Given the description of an element on the screen output the (x, y) to click on. 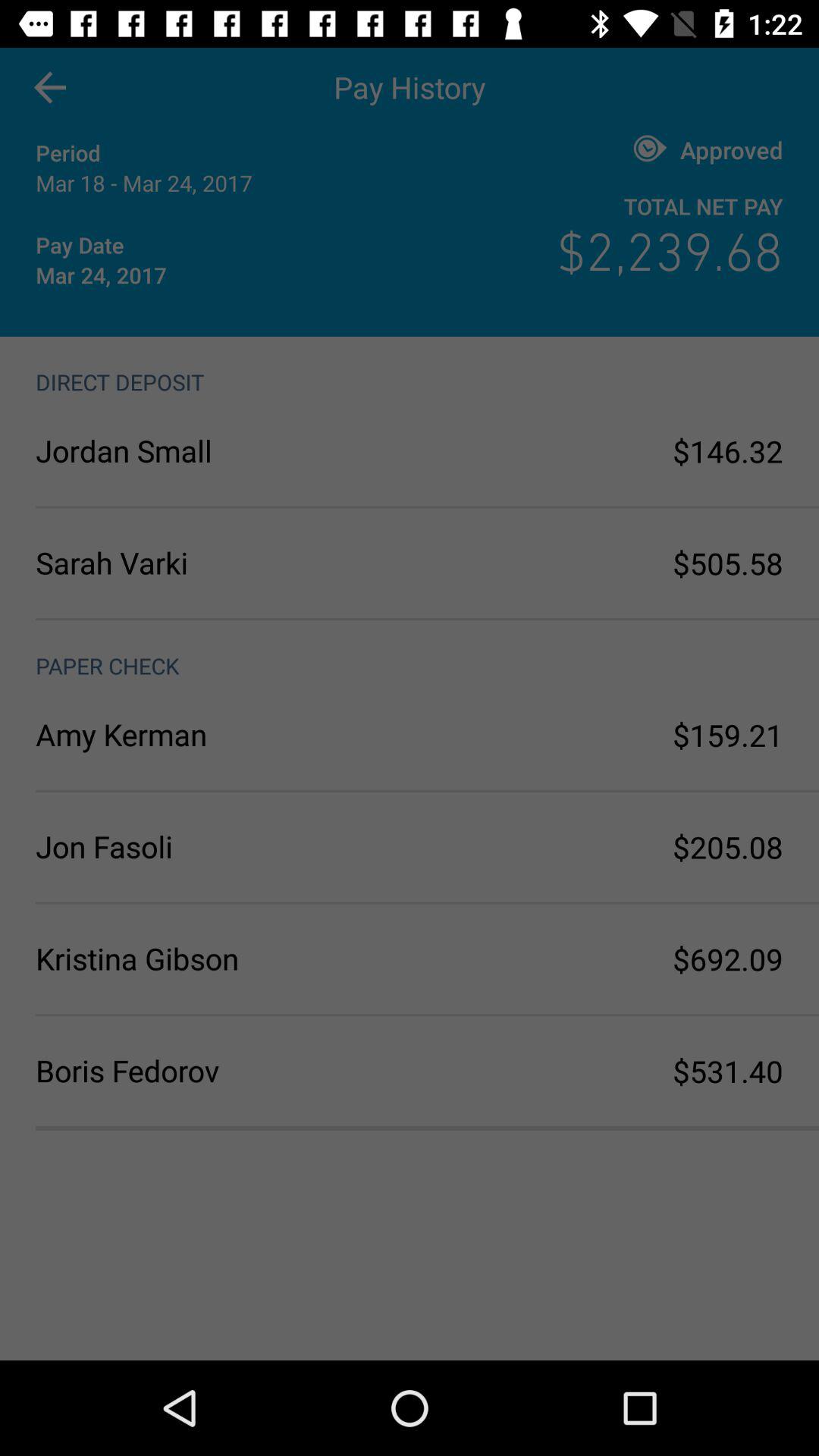
go back (49, 87)
